Given the description of an element on the screen output the (x, y) to click on. 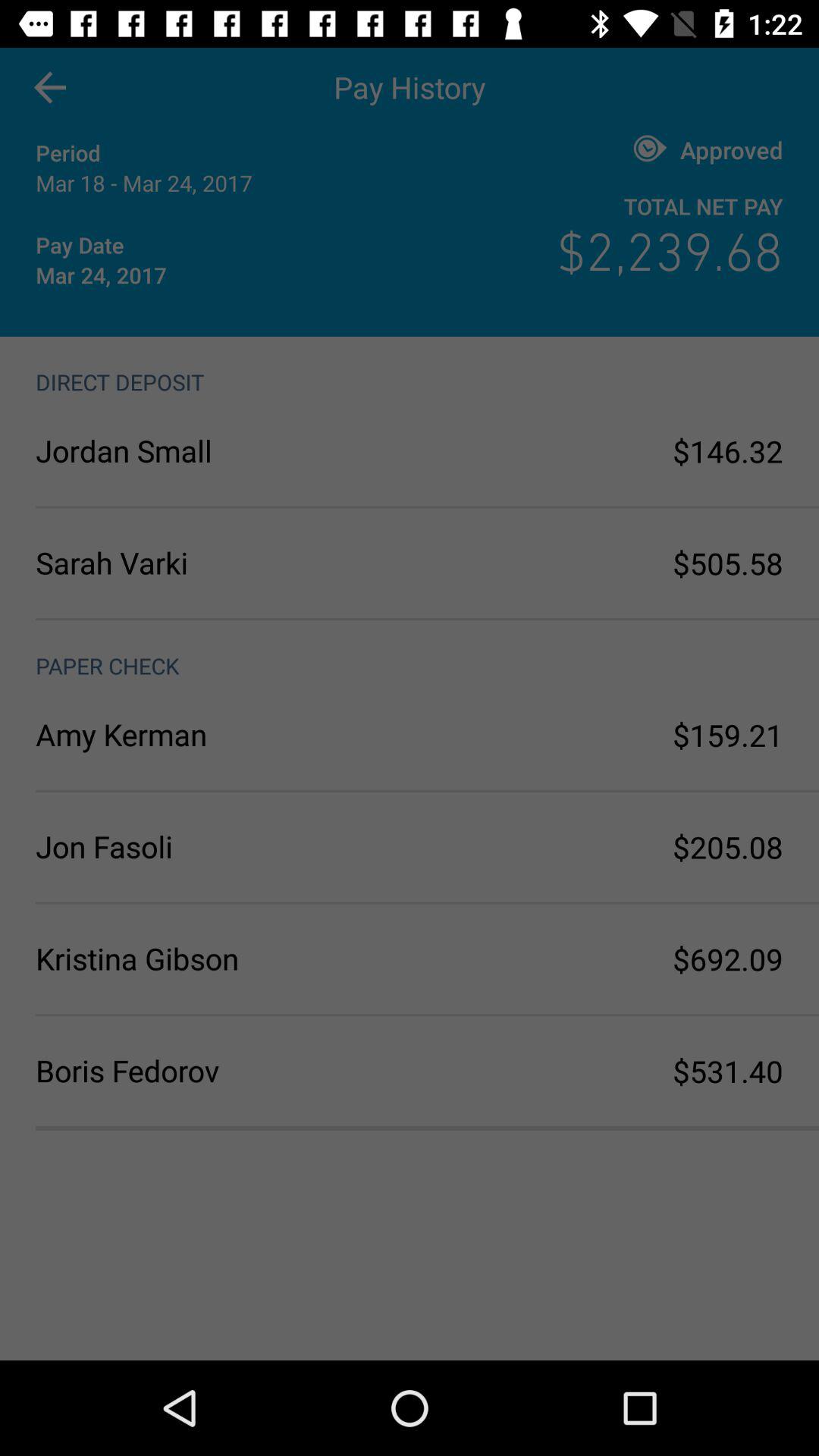
go back (49, 87)
